Given the description of an element on the screen output the (x, y) to click on. 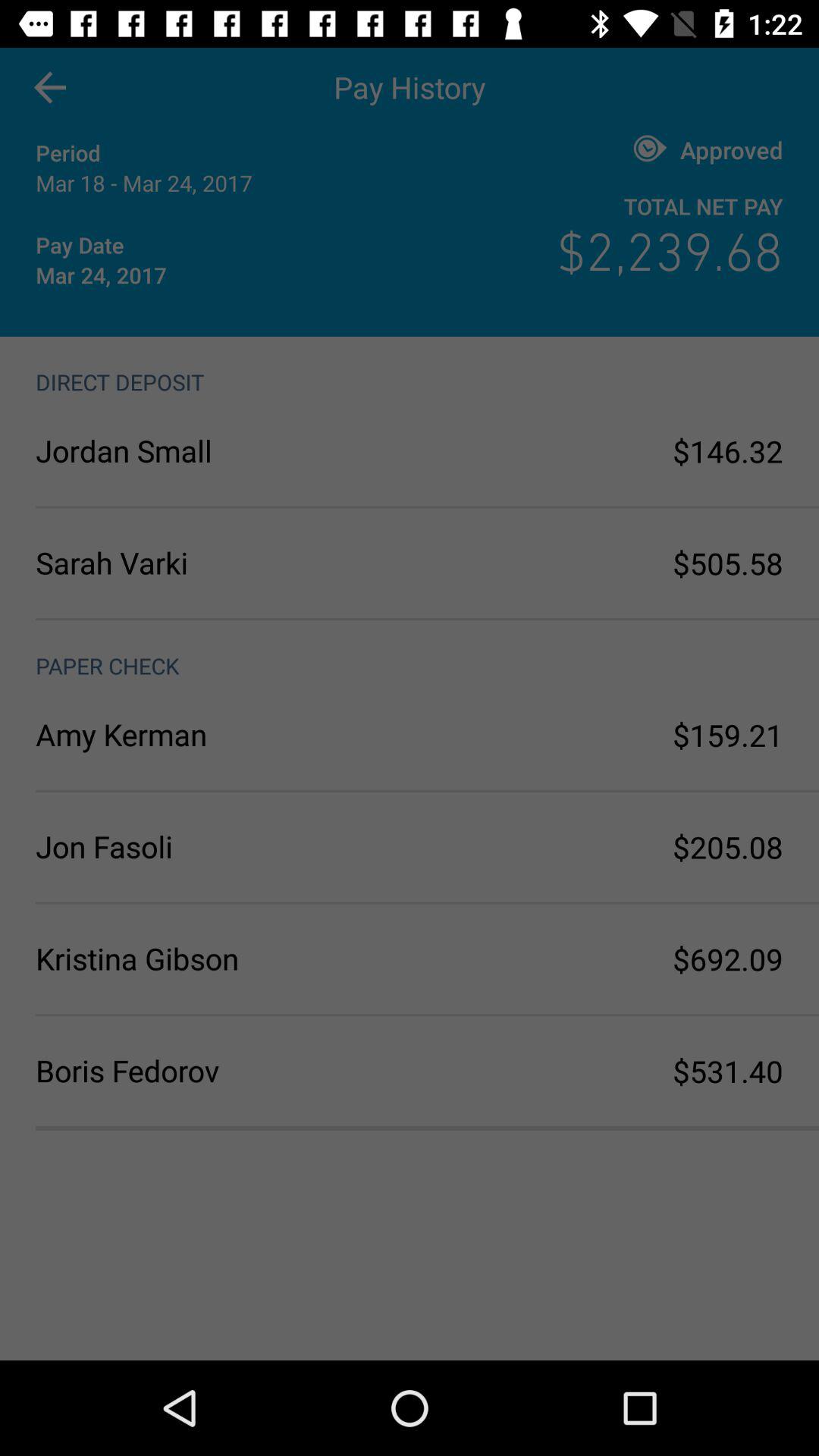
go back (49, 87)
